Given the description of an element on the screen output the (x, y) to click on. 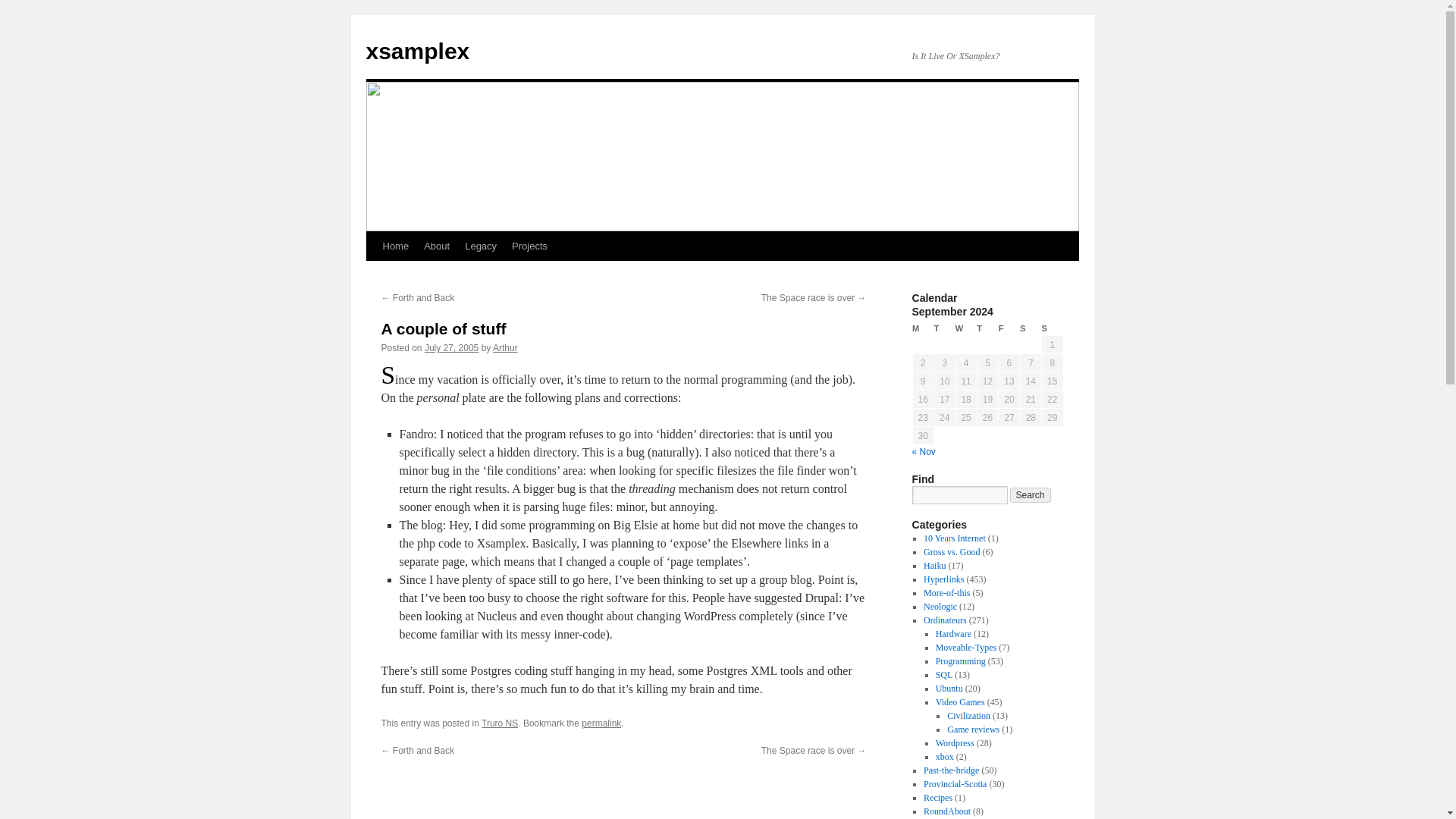
10 Years Internet (954, 538)
Search (1030, 494)
Thursday (986, 328)
View all posts by Arthur (505, 347)
Hardware (953, 633)
8:01 pm AST (452, 347)
Programming (960, 661)
Haiku (933, 565)
More-of-this (946, 593)
Ordinateurs (944, 620)
